Given the description of an element on the screen output the (x, y) to click on. 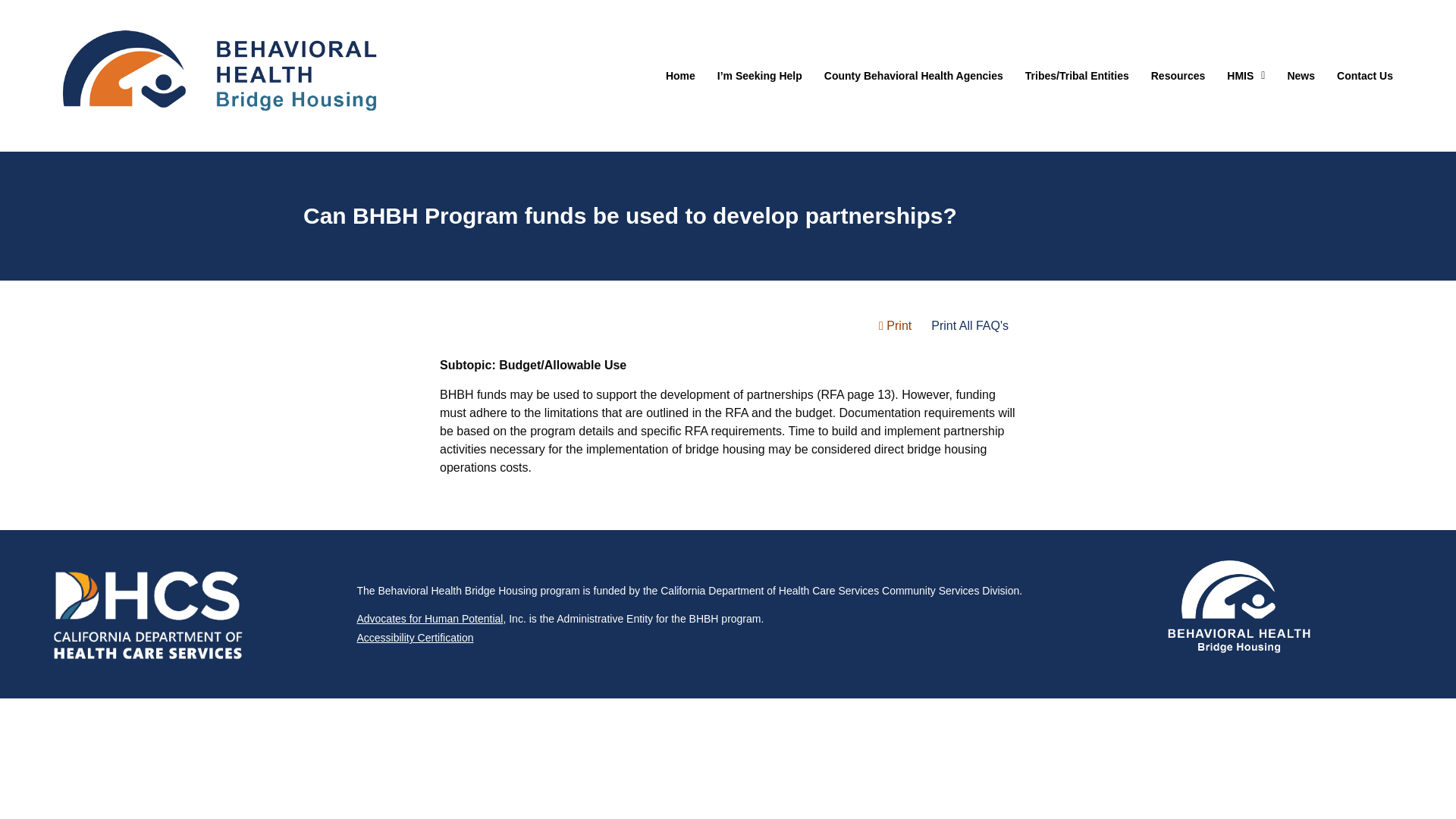
Contact Us (1364, 75)
HMIS (1245, 75)
Resources (1178, 75)
County Behavioral Health Agencies (913, 75)
News (1300, 75)
Home (680, 75)
